Given the description of an element on the screen output the (x, y) to click on. 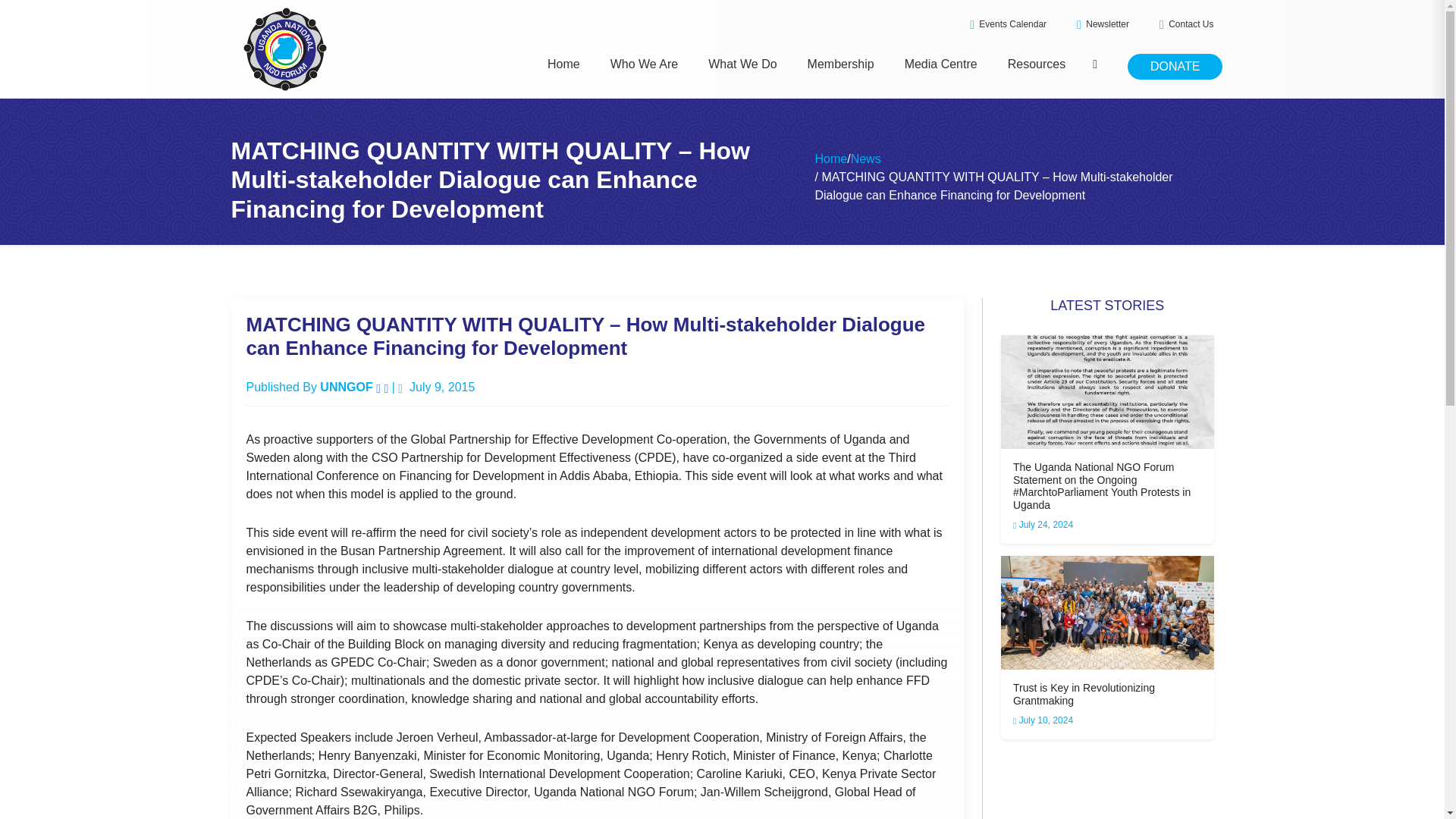
Media Centre (940, 63)
Who We Are (644, 63)
Contact Us (1186, 23)
Resources (1036, 63)
Home (563, 63)
Events Calendar (1007, 23)
Newsletter (1103, 23)
What We Do (741, 63)
Membership (841, 63)
